Given the description of an element on the screen output the (x, y) to click on. 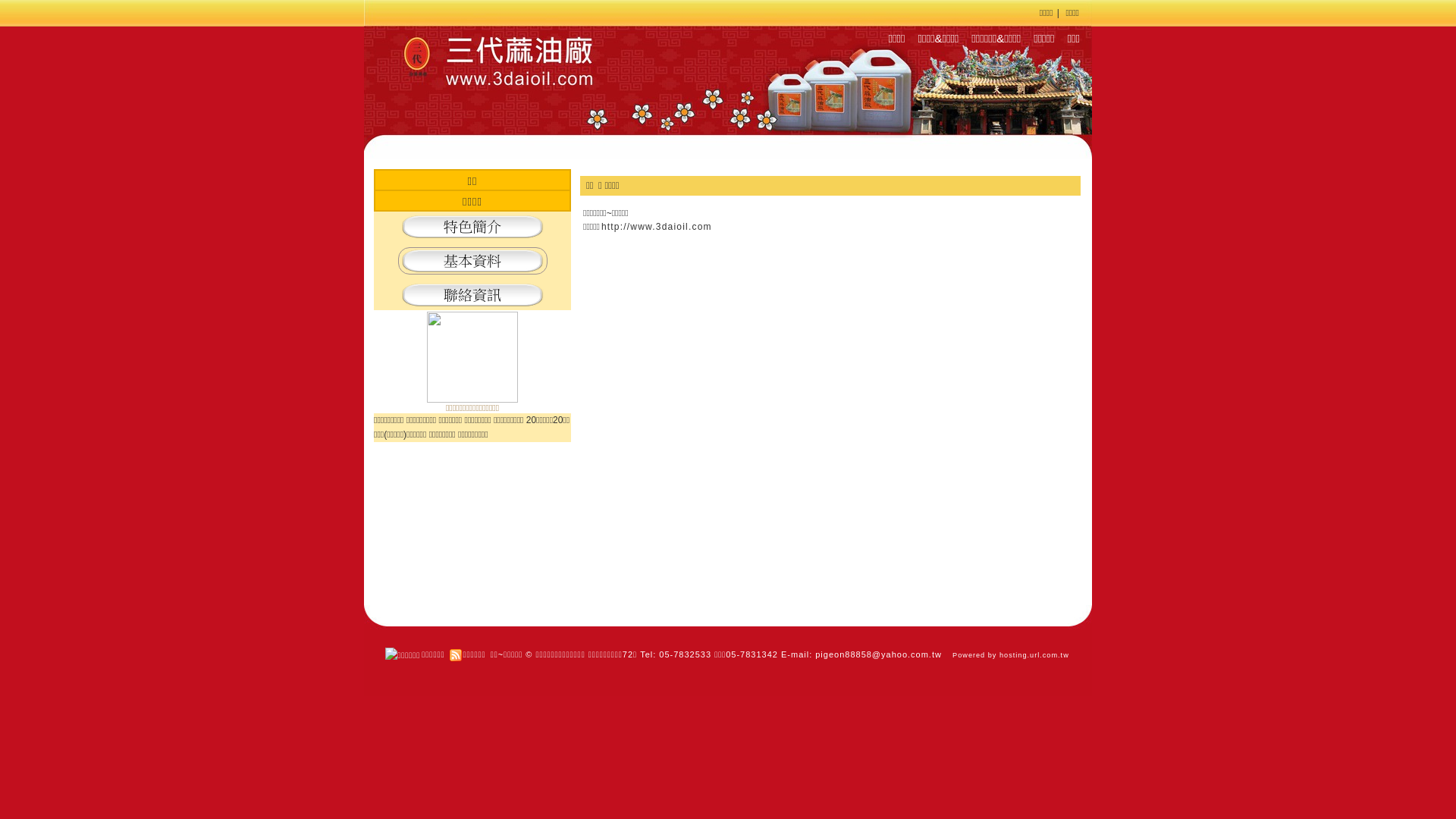
Powered by hosting.url.com.tw Element type: text (1010, 654)
http://www.3daioil.com Element type: text (656, 226)
